Given the description of an element on the screen output the (x, y) to click on. 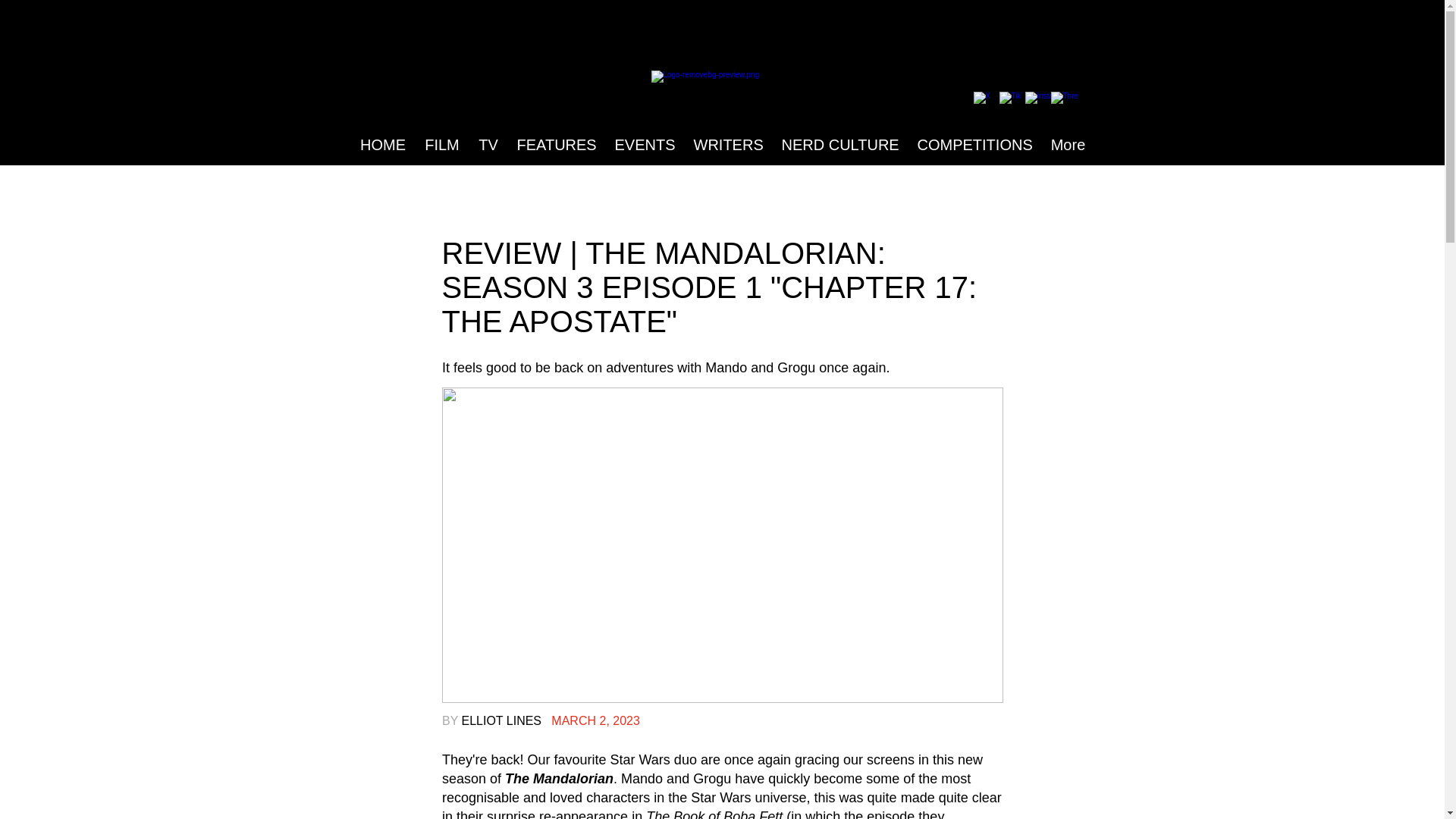
HOME (382, 144)
FILM (441, 144)
EVENTS (644, 144)
TV (487, 144)
WRITERS (727, 144)
FEATURES (556, 144)
COMPETITIONS (975, 144)
NERD CULTURE (839, 144)
